Given the description of an element on the screen output the (x, y) to click on. 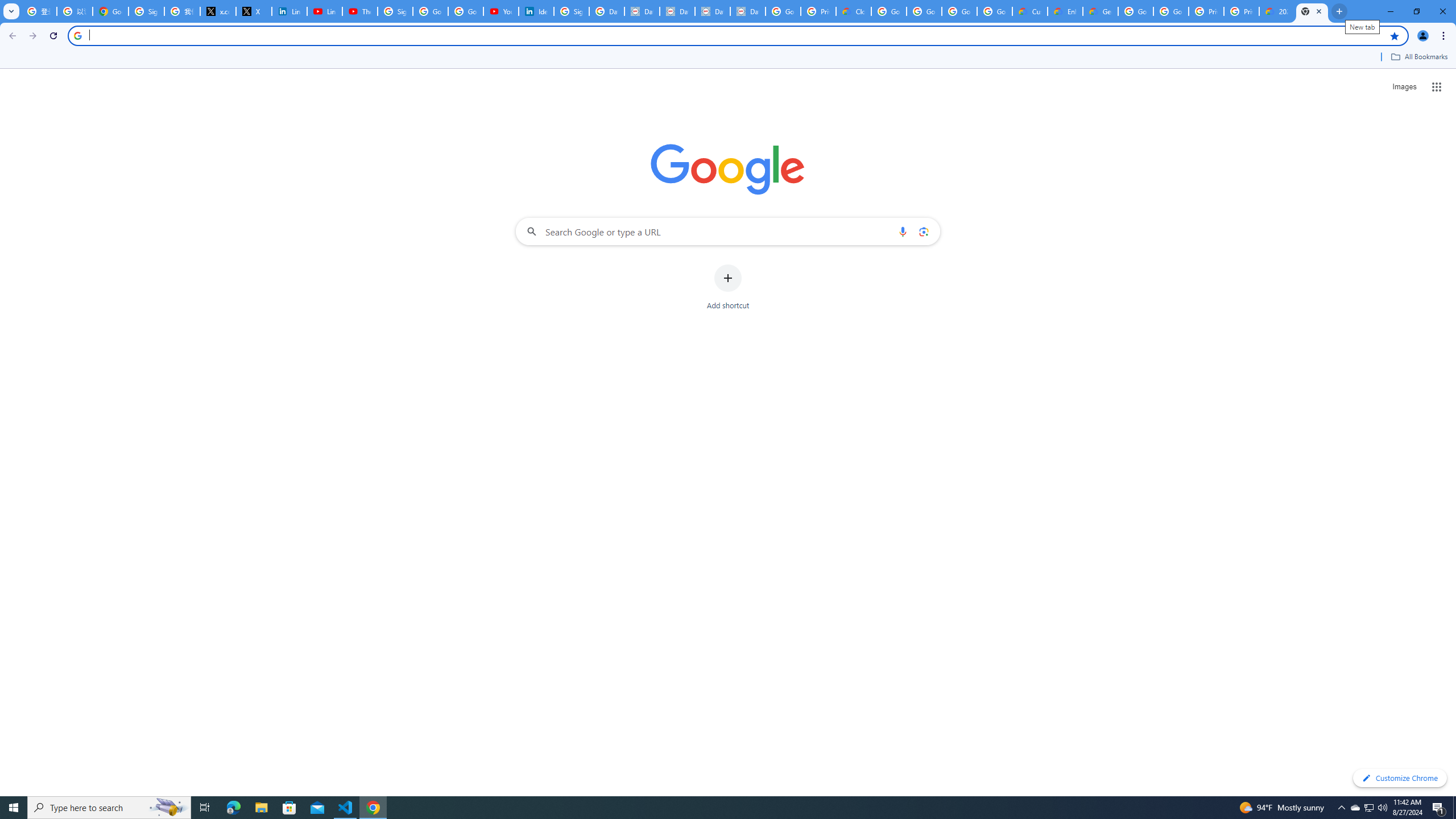
LinkedIn Privacy Policy (288, 11)
